Given the description of an element on the screen output the (x, y) to click on. 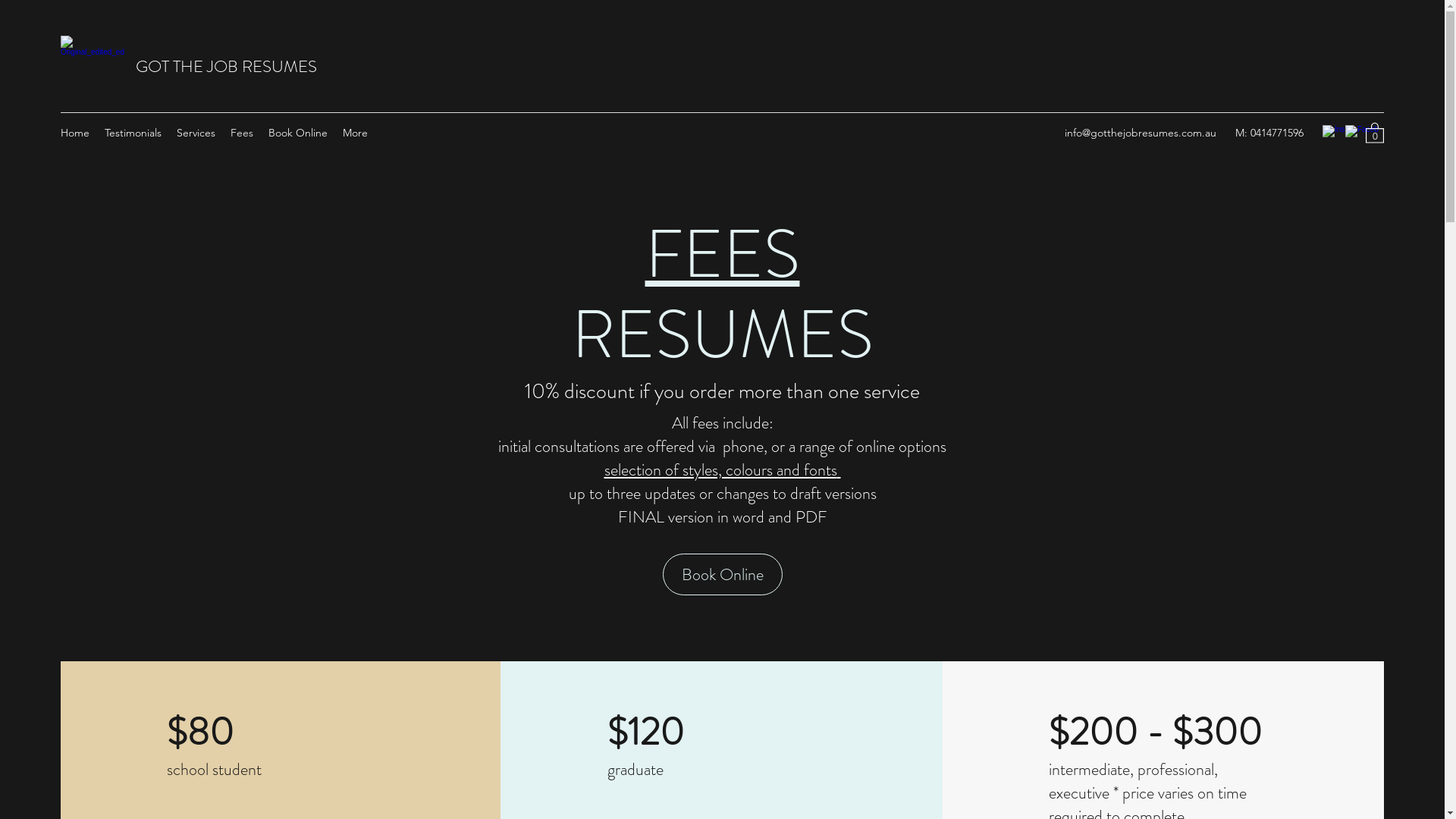
0 Element type: text (1374, 132)
GOT THE JOB RESUMES Element type: text (225, 66)
Home Element type: text (75, 132)
Fees Element type: text (241, 132)
info@gotthejobresumes.com.au Element type: text (1140, 132)
Book Online Element type: text (722, 574)
Book Online Element type: text (297, 132)
selection of styles, colours and fonts Element type: text (719, 469)
Services Element type: text (195, 132)
Testimonials Element type: text (133, 132)
